Given the description of an element on the screen output the (x, y) to click on. 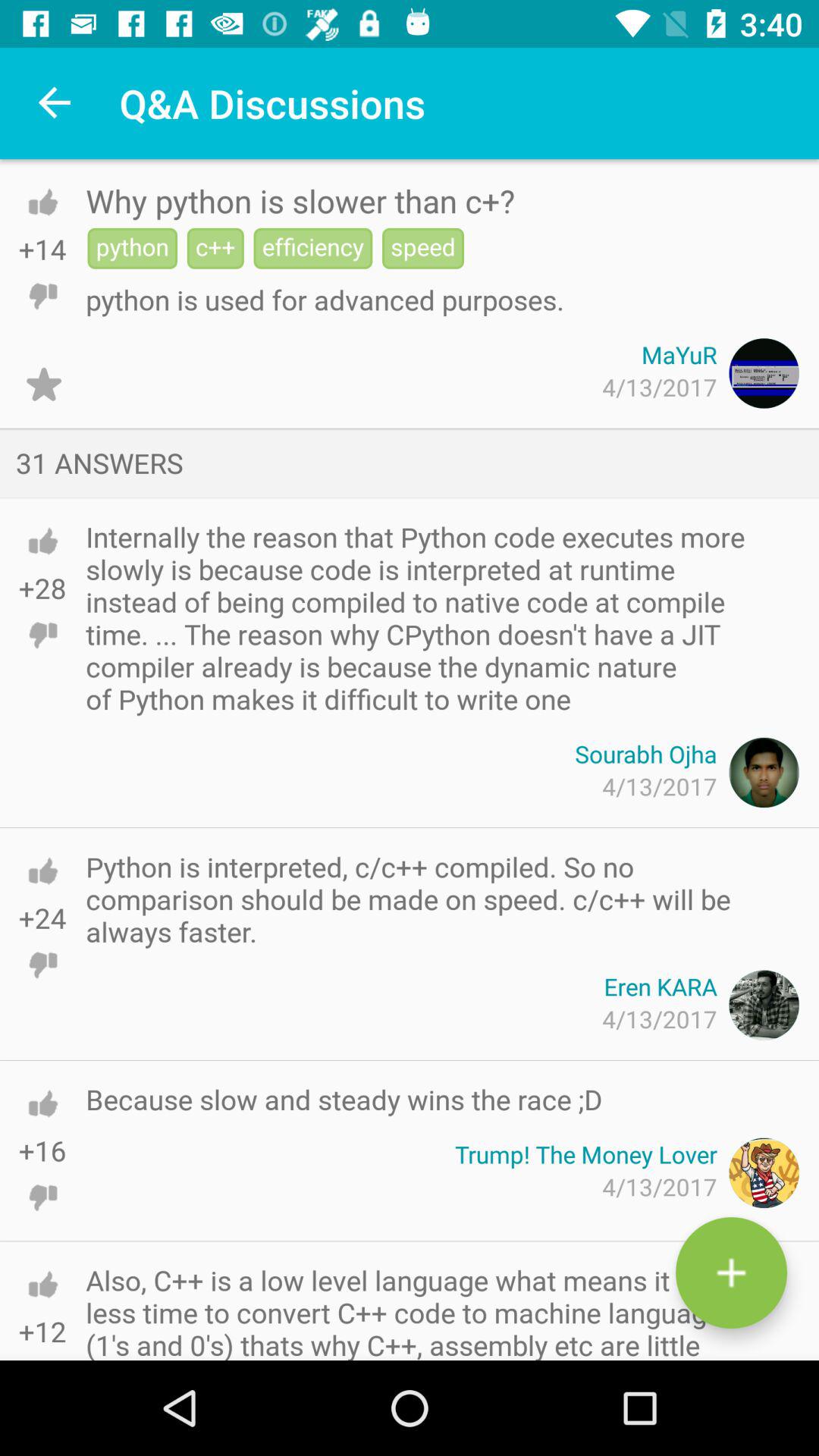
see the additional content of the page (731, 1272)
